Given the description of an element on the screen output the (x, y) to click on. 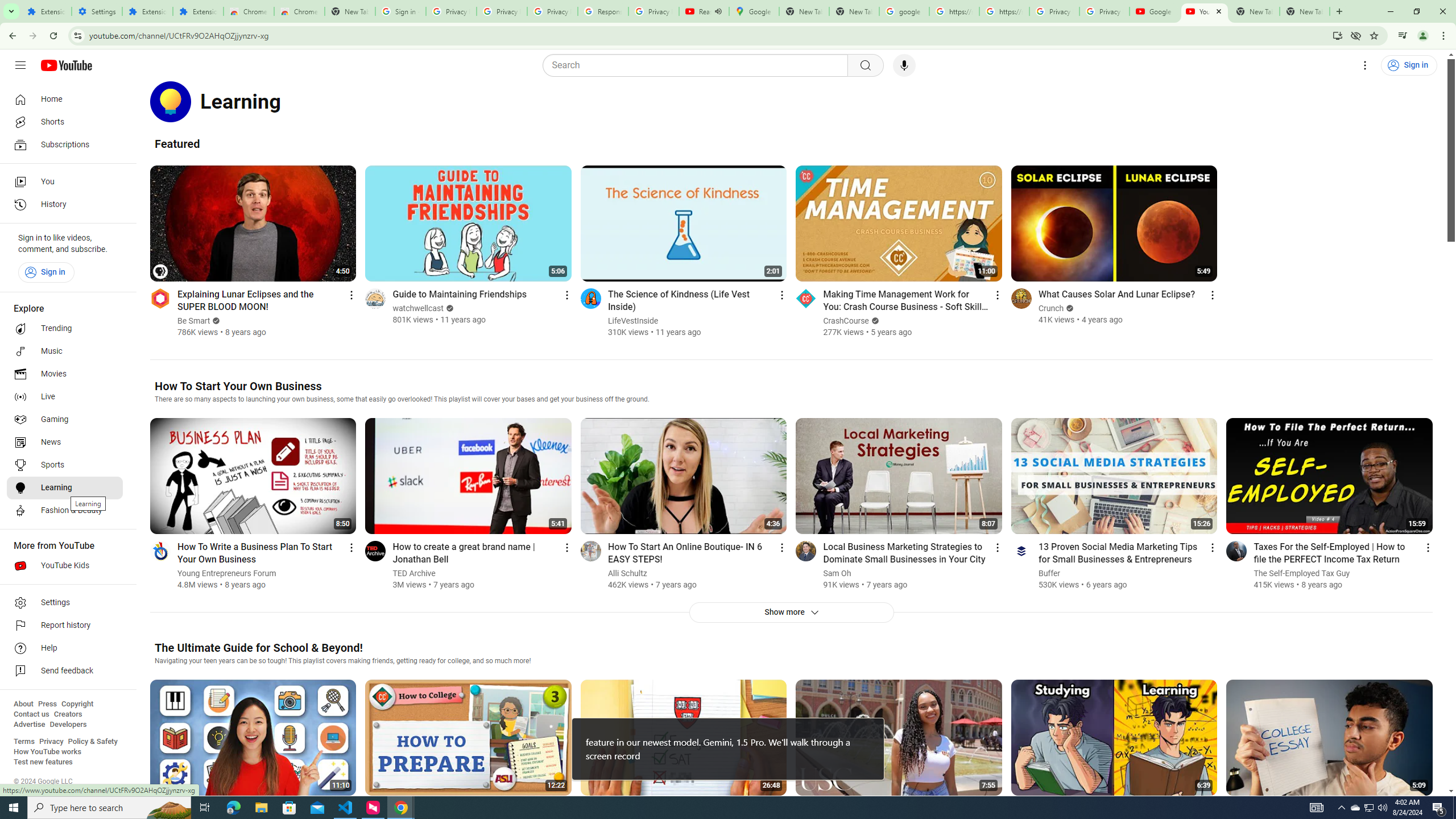
Learning (64, 487)
Contact us (31, 714)
Live (64, 396)
Extensions (46, 11)
TED Archive (414, 573)
Settings (97, 11)
Search with your voice (903, 65)
Subscriptions (64, 144)
New Tab (350, 11)
